Given the description of an element on the screen output the (x, y) to click on. 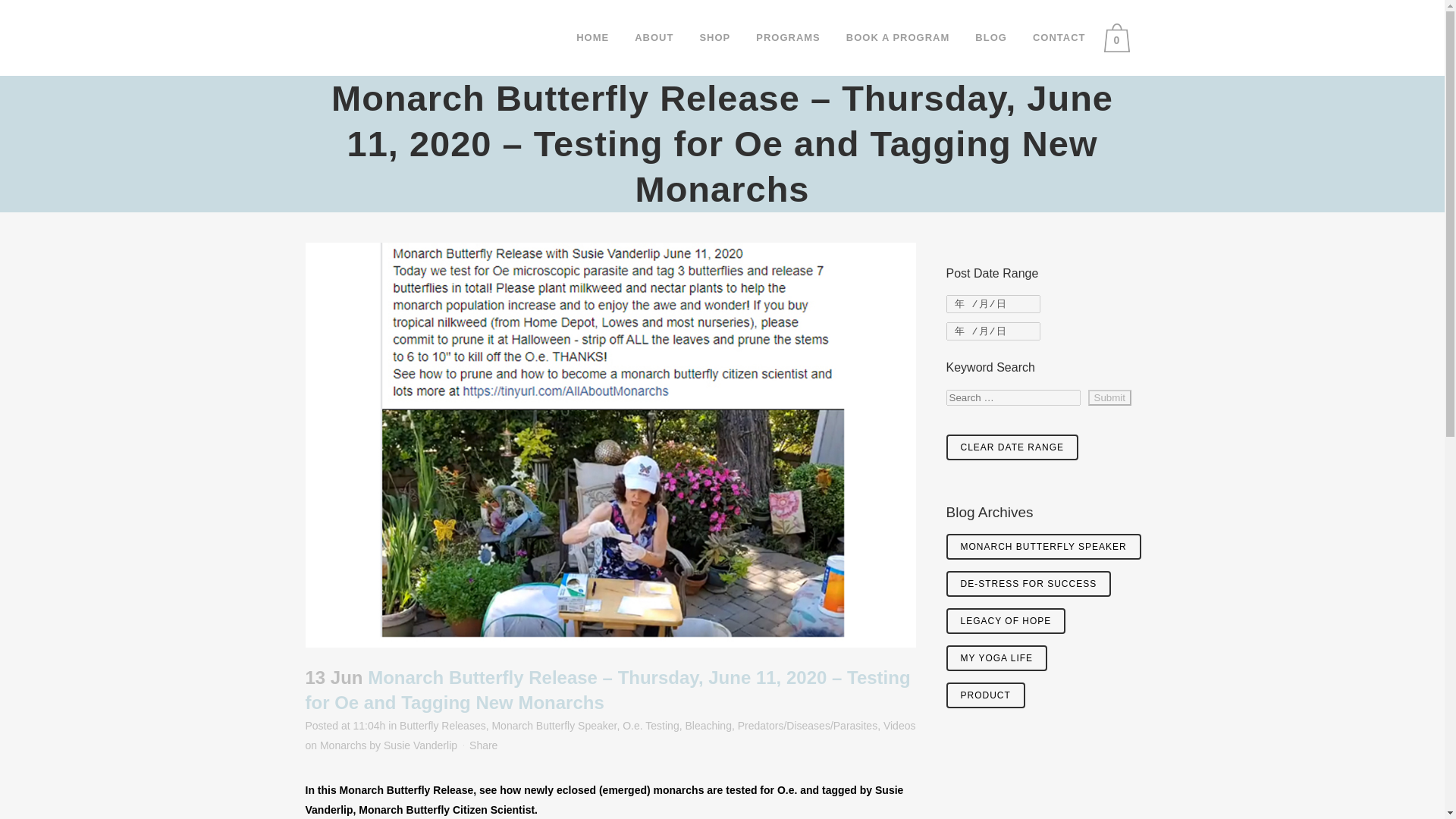
Submit (1109, 397)
BOOK A PROGRAM (897, 38)
PROGRAMS (787, 38)
0 (1120, 37)
CONTACT (1059, 38)
